Given the description of an element on the screen output the (x, y) to click on. 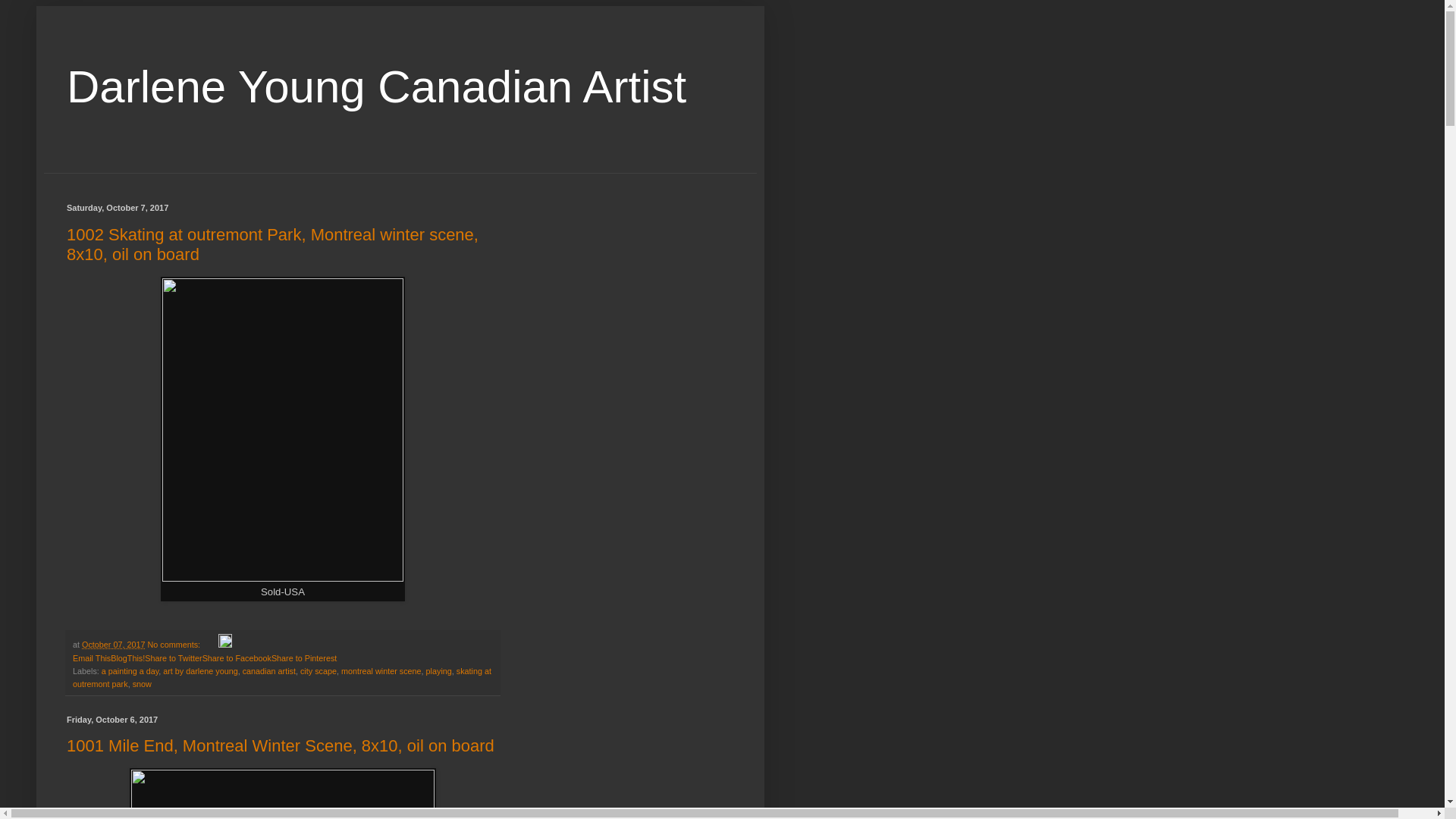
1001 Mile End, Montreal Winter Scene, 8x10, oil on board (280, 745)
Share to Pinterest (303, 657)
a painting a day (129, 670)
Share to Twitter (173, 657)
Share to Pinterest (303, 657)
Share to Facebook (236, 657)
Share to Twitter (173, 657)
Email This (91, 657)
montreal winter scene (381, 670)
Darlene Young Canadian Artist (375, 86)
permanent link (112, 644)
city scape (317, 670)
canadian artist (269, 670)
Share to Facebook (236, 657)
